Given the description of an element on the screen output the (x, y) to click on. 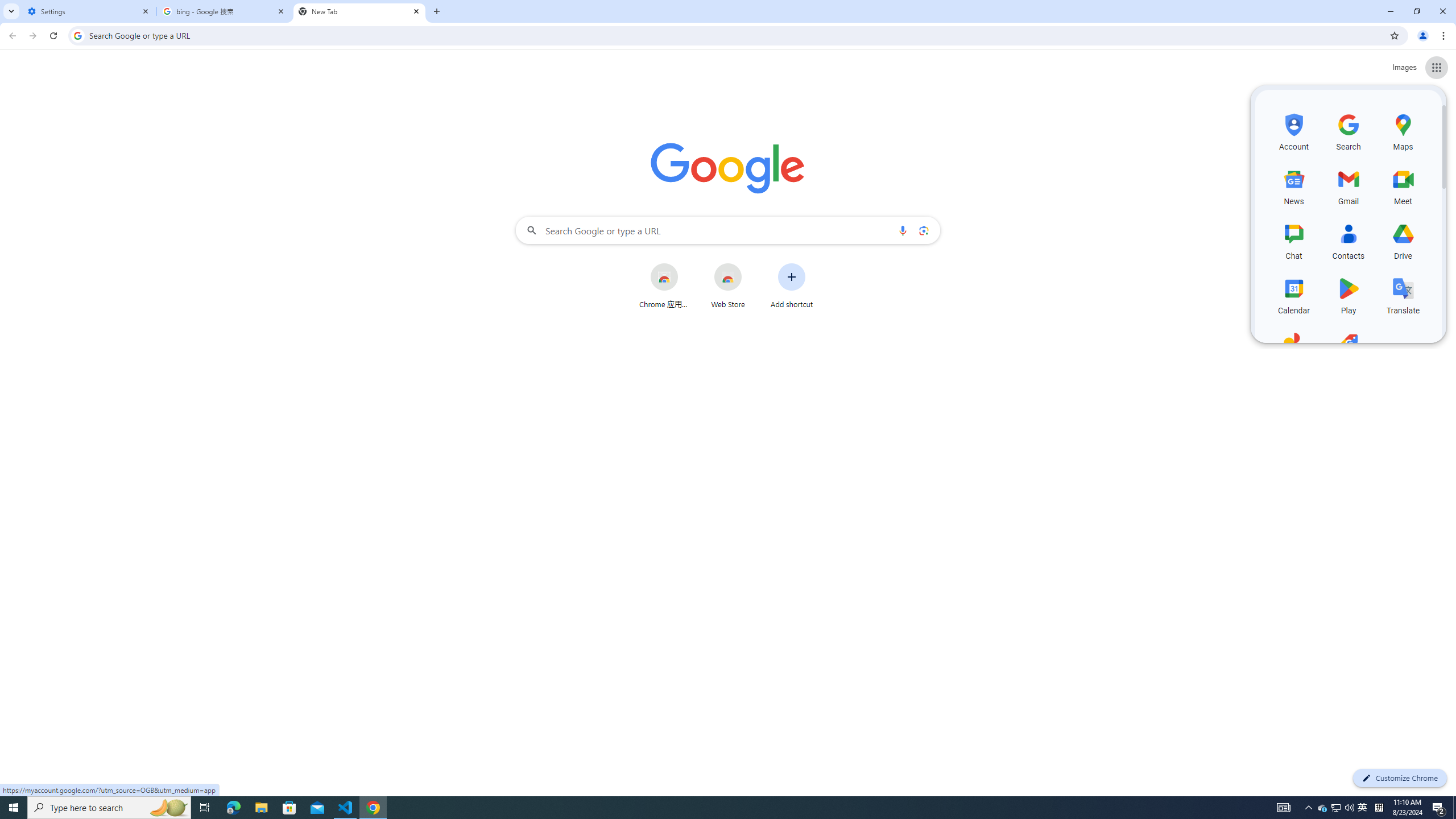
Add shortcut (792, 285)
Search, row 1 of 5 and column 2 of 3 in the first section (1348, 130)
Chat, row 3 of 5 and column 1 of 3 in the first section (1293, 239)
Contacts, row 3 of 5 and column 2 of 3 in the first section (1348, 239)
Shopping, row 5 of 5 and column 2 of 3 in the first section (1348, 349)
Drive, row 3 of 5 and column 3 of 3 in the first section (1402, 239)
Play, row 4 of 5 and column 2 of 3 in the first section (1348, 294)
Search icon (77, 35)
More actions for Web Store shortcut (750, 264)
